Given the description of an element on the screen output the (x, y) to click on. 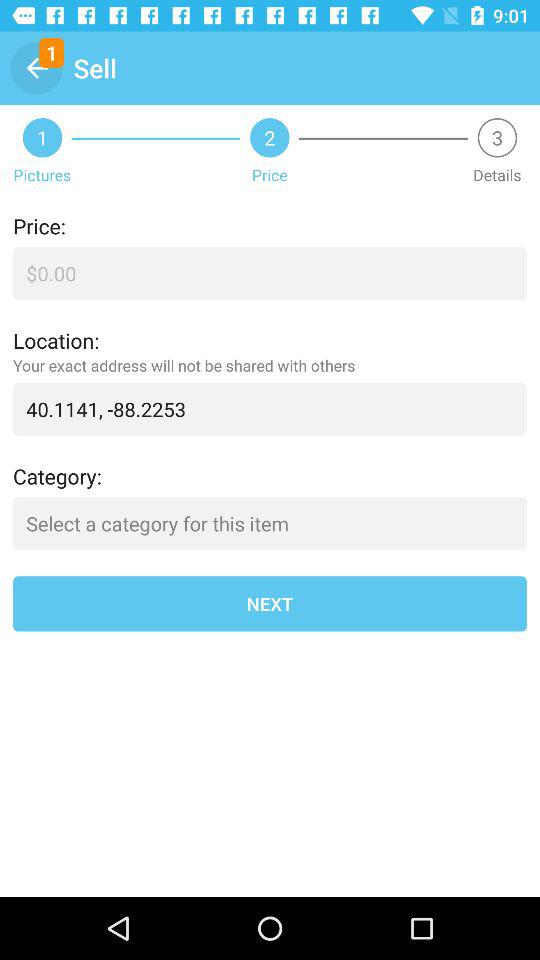
enter price (269, 273)
